Given the description of an element on the screen output the (x, y) to click on. 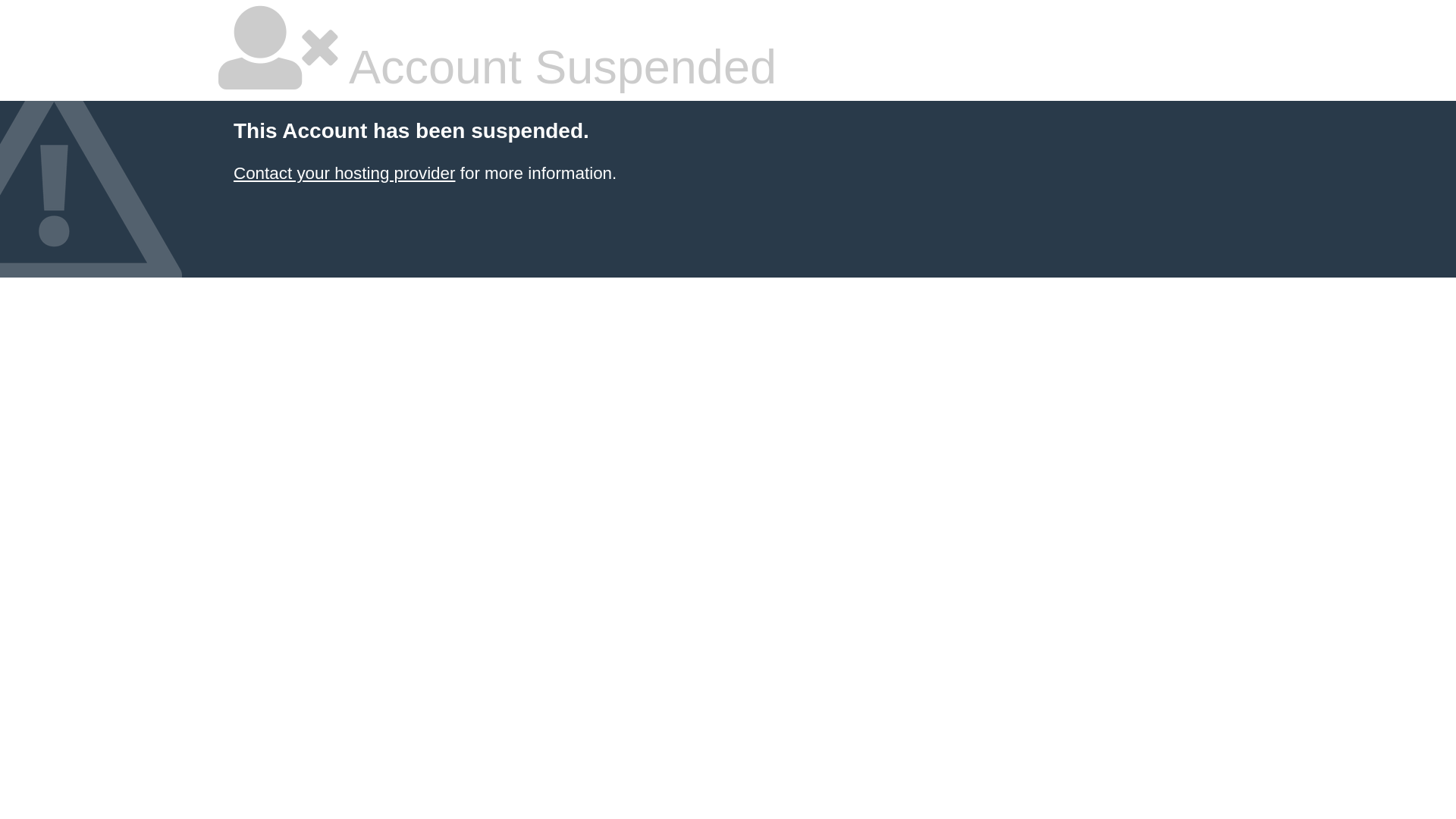
Contact your hosting provider Element type: text (344, 172)
